Given the description of an element on the screen output the (x, y) to click on. 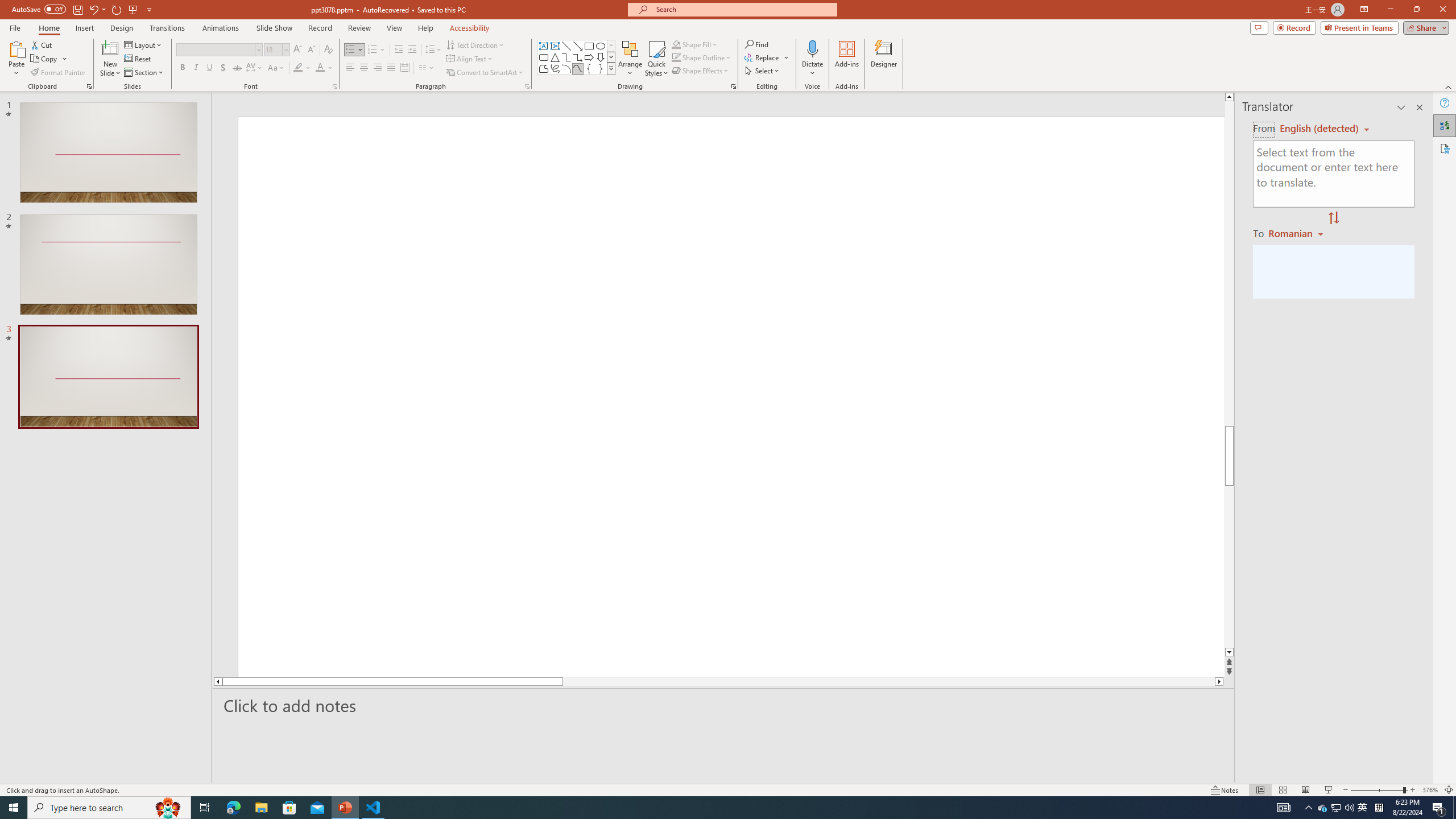
Font (215, 49)
Freeform: Shape (543, 68)
Justify (390, 67)
Bullets (354, 49)
Arrow: Down (600, 57)
AutoSave (38, 9)
Designer (883, 58)
Convert to SmartArt (485, 72)
Align Right (377, 67)
Help (1444, 102)
Zoom In (1412, 790)
Align Text (470, 58)
Comments (1259, 27)
Change Case (276, 67)
New Slide (110, 48)
